Given the description of an element on the screen output the (x, y) to click on. 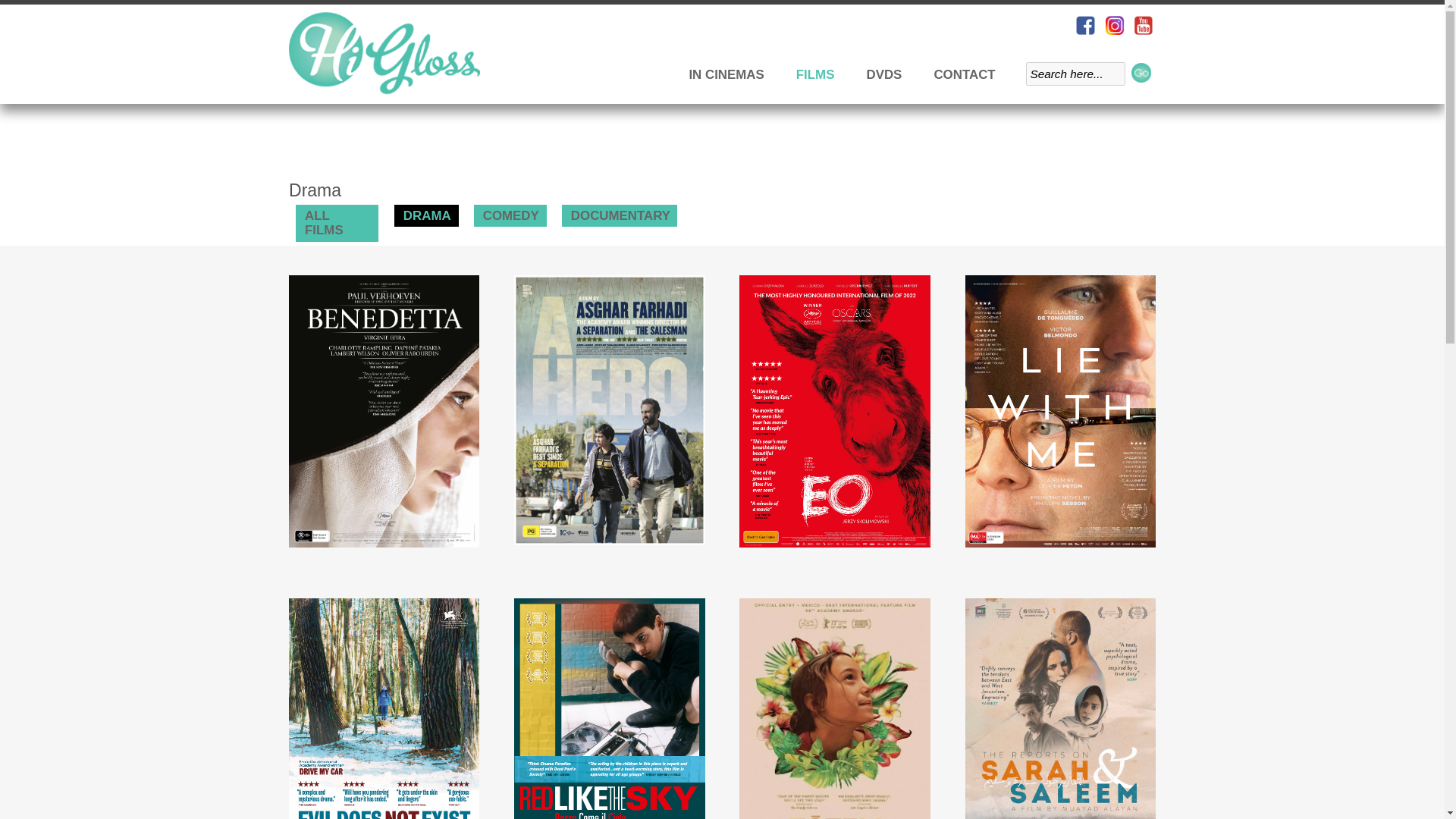
DOCUMENTARY (619, 215)
In Cinemas (726, 74)
Films (815, 74)
Comedy (510, 215)
Search here... (1075, 73)
COMEDY (510, 215)
FILMS (815, 74)
IN CINEMAS (726, 74)
DVDs (884, 74)
DRAMA (426, 215)
CONTACT (959, 74)
Contact (959, 74)
Drama (426, 215)
All Films (336, 222)
Documentary (619, 215)
